Given the description of an element on the screen output the (x, y) to click on. 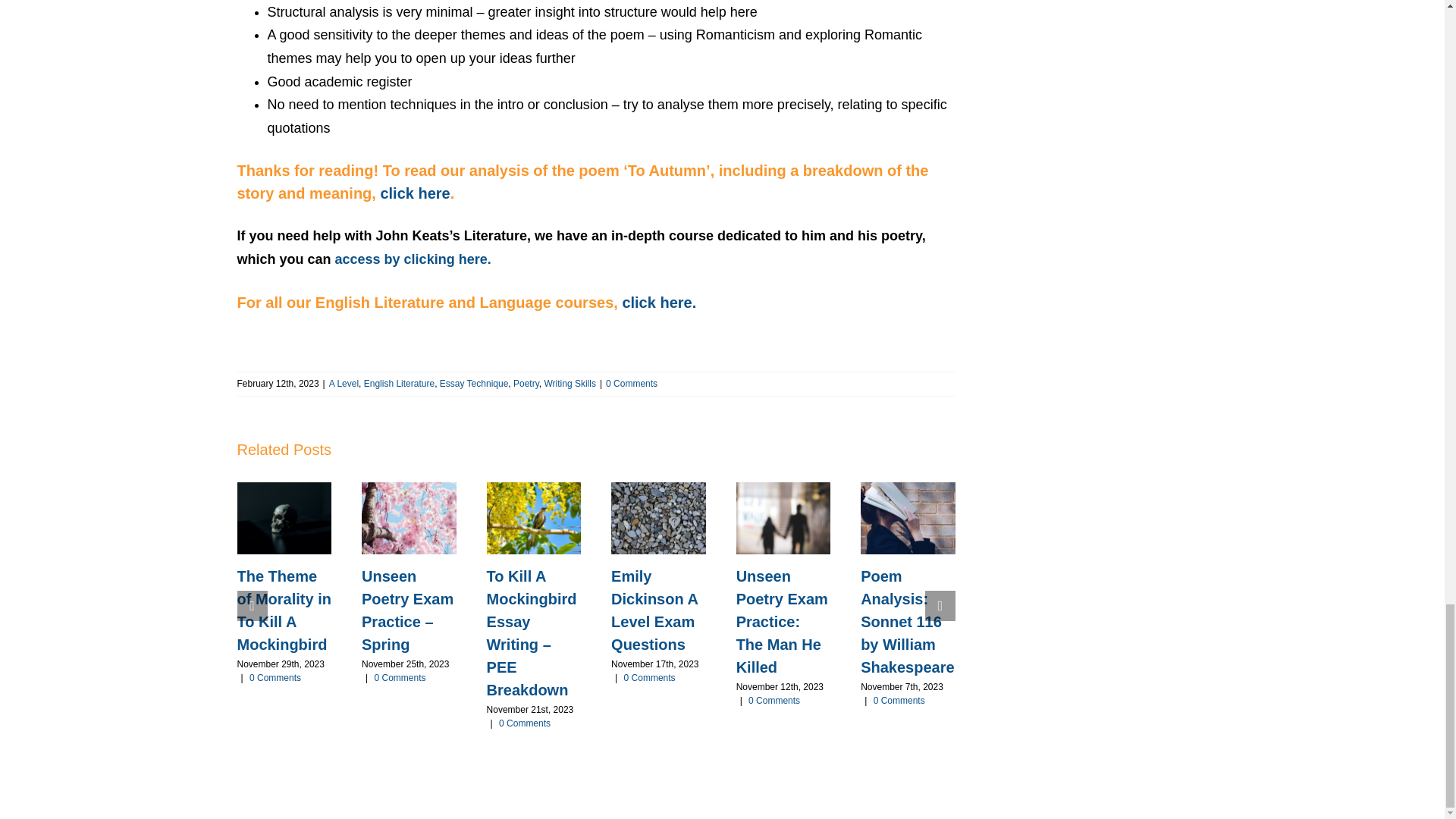
A Level (343, 383)
Emily Dickinson A Level Exam Questions (654, 610)
Poetry (525, 383)
The Theme of Morality in To Kill A Mockingbird (282, 610)
0 Comments (400, 677)
0 Comments (274, 677)
access by clicking here. (413, 258)
0 Comments (649, 677)
0 Comments (524, 723)
English Literature (398, 383)
